Given the description of an element on the screen output the (x, y) to click on. 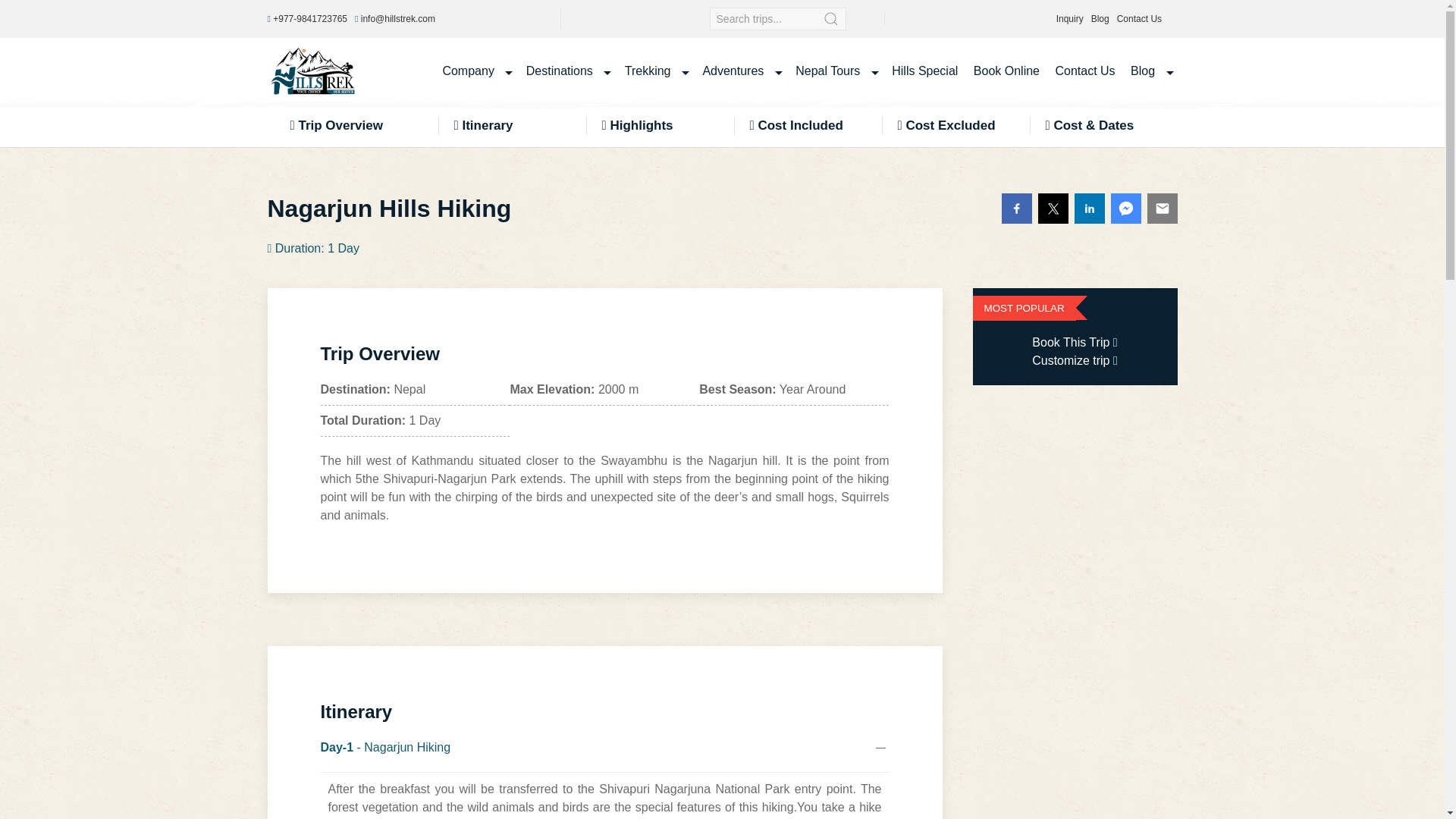
Blog (1099, 18)
Contact Us (1138, 18)
Trekking (655, 70)
Company (475, 70)
Destinations (567, 70)
Inquiry (1070, 18)
